Given the description of an element on the screen output the (x, y) to click on. 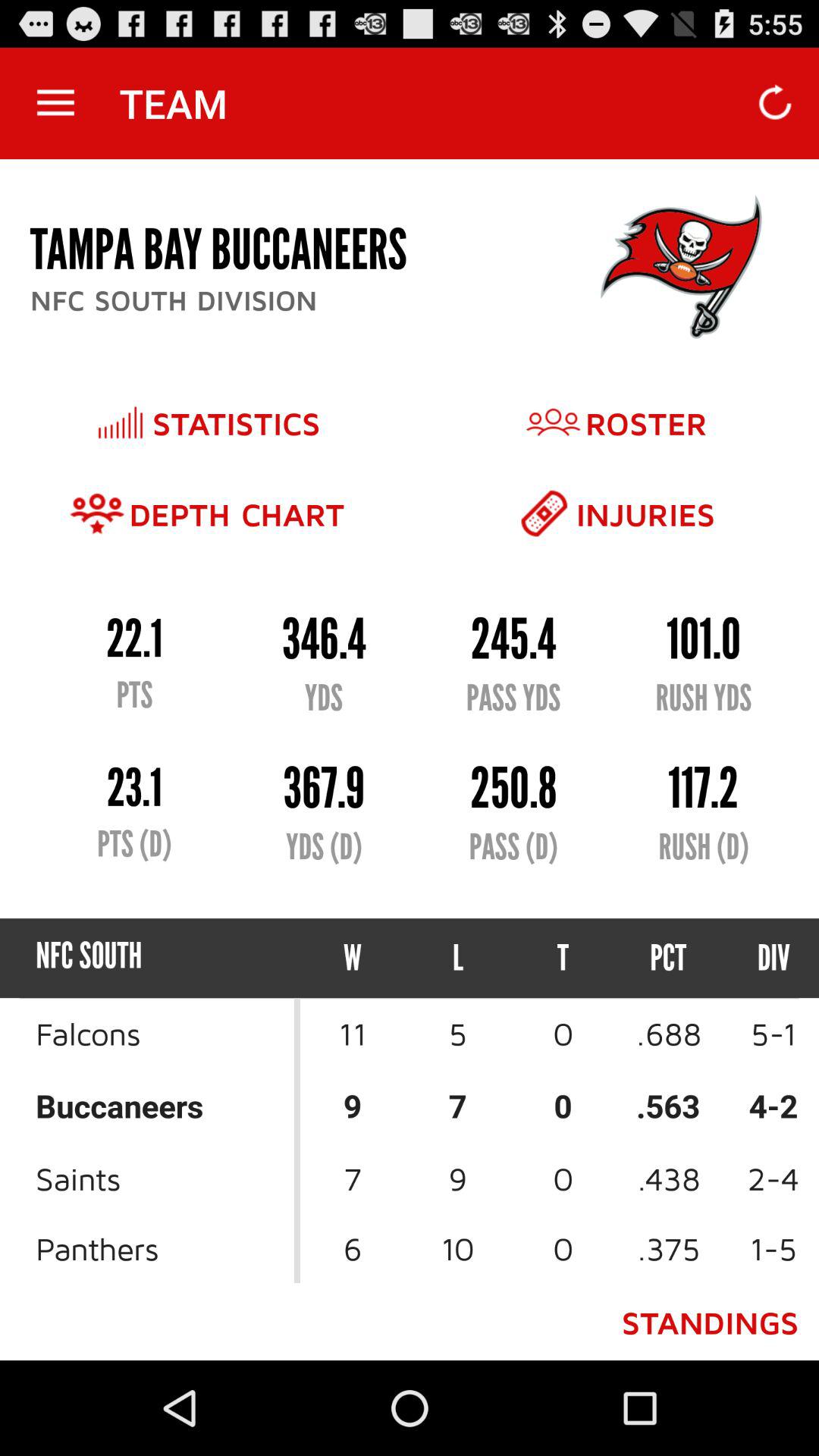
open item above tampa bay buccaneers (55, 103)
